Given the description of an element on the screen output the (x, y) to click on. 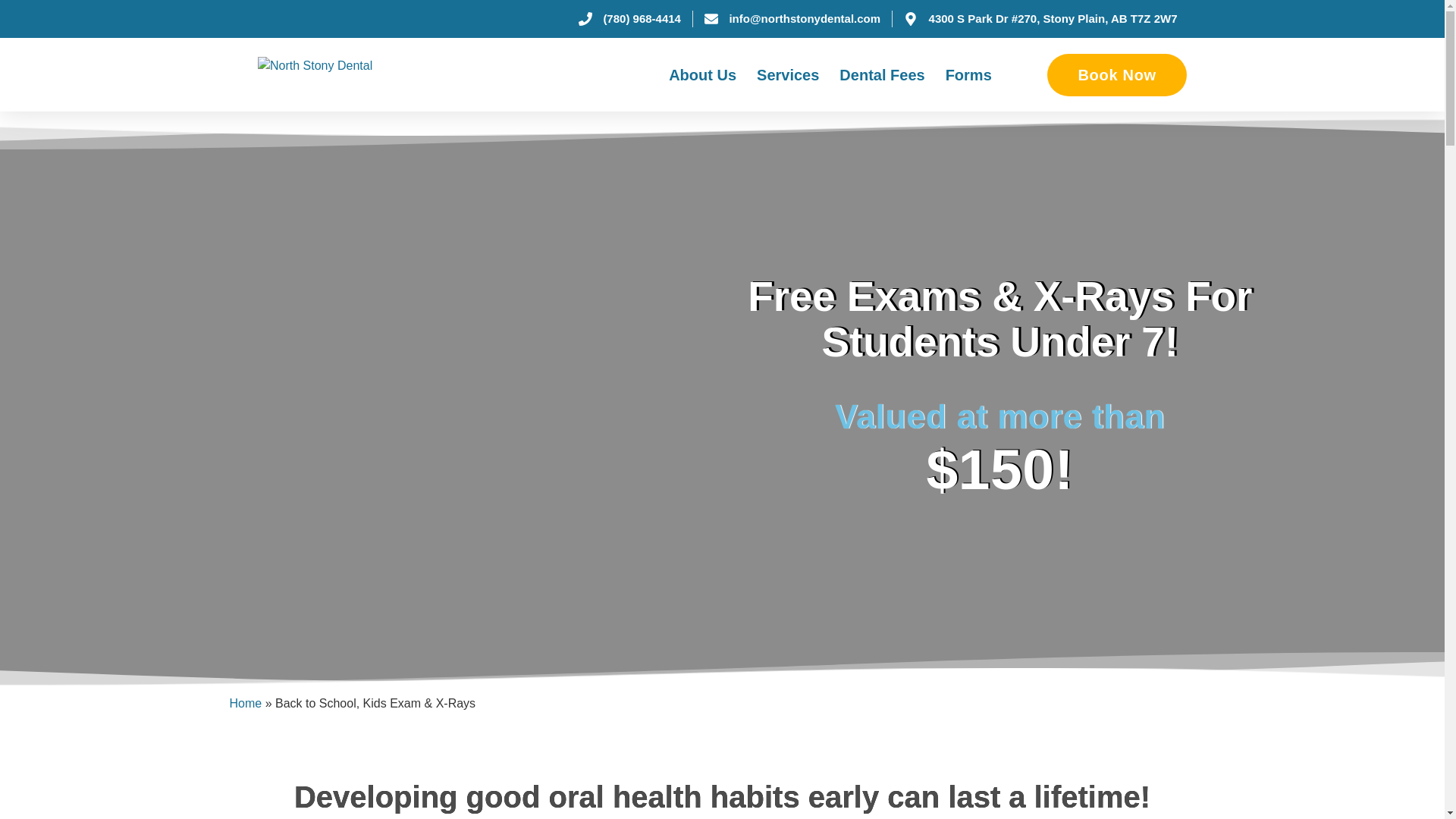
Services (787, 74)
About Us (702, 74)
Dental Fees (882, 74)
Forms (967, 74)
